Given the description of an element on the screen output the (x, y) to click on. 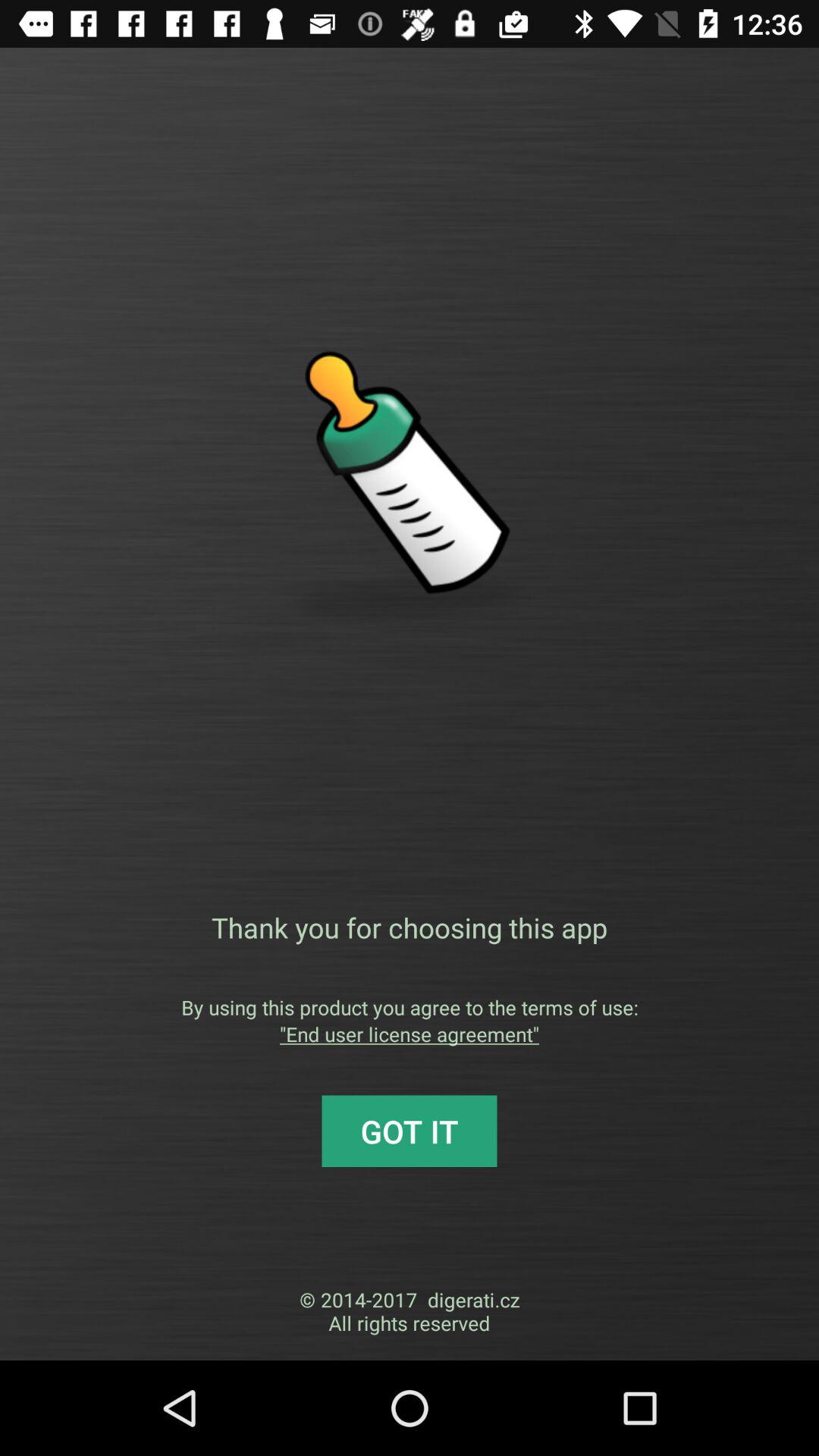
jump to the end user license icon (409, 1033)
